Given the description of an element on the screen output the (x, y) to click on. 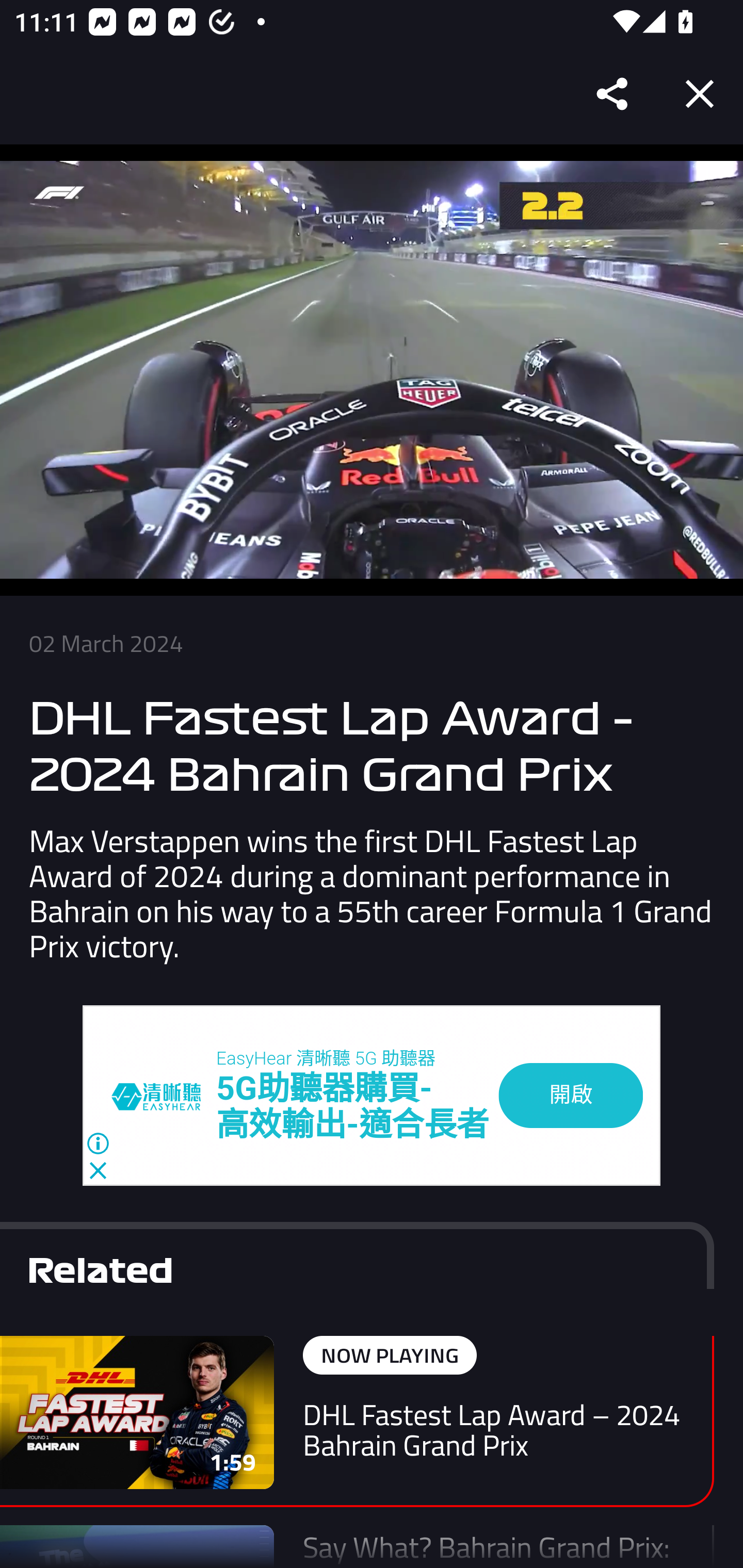
Share (612, 93)
Close (699, 93)
Video Player (371, 369)
EasyHear 清晰聽 5G 助聽器 (326, 1057)
easyhear.com (163, 1095)
開啟 (570, 1095)
5G助聽器購買- 高效輸出-適合長者 5G助聽器購買- 高效輸出-適合長者 (353, 1107)
